Given the description of an element on the screen output the (x, y) to click on. 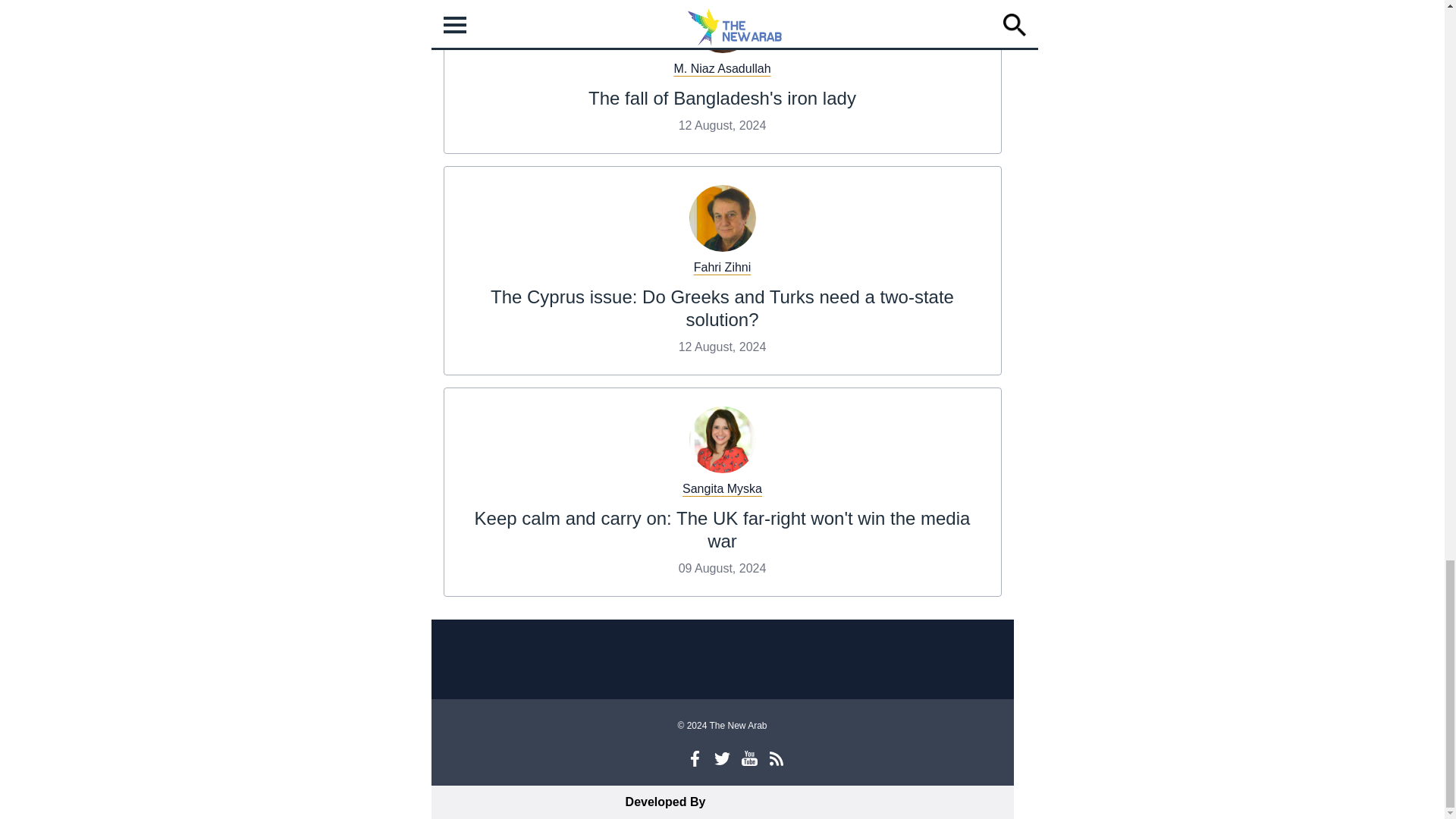
Youtube (749, 758)
Youtube (749, 758)
Facebook (695, 758)
RSS (776, 758)
RSS (776, 758)
The New Arab (721, 661)
The fall of Bangladesh's iron lady (722, 97)
